Given the description of an element on the screen output the (x, y) to click on. 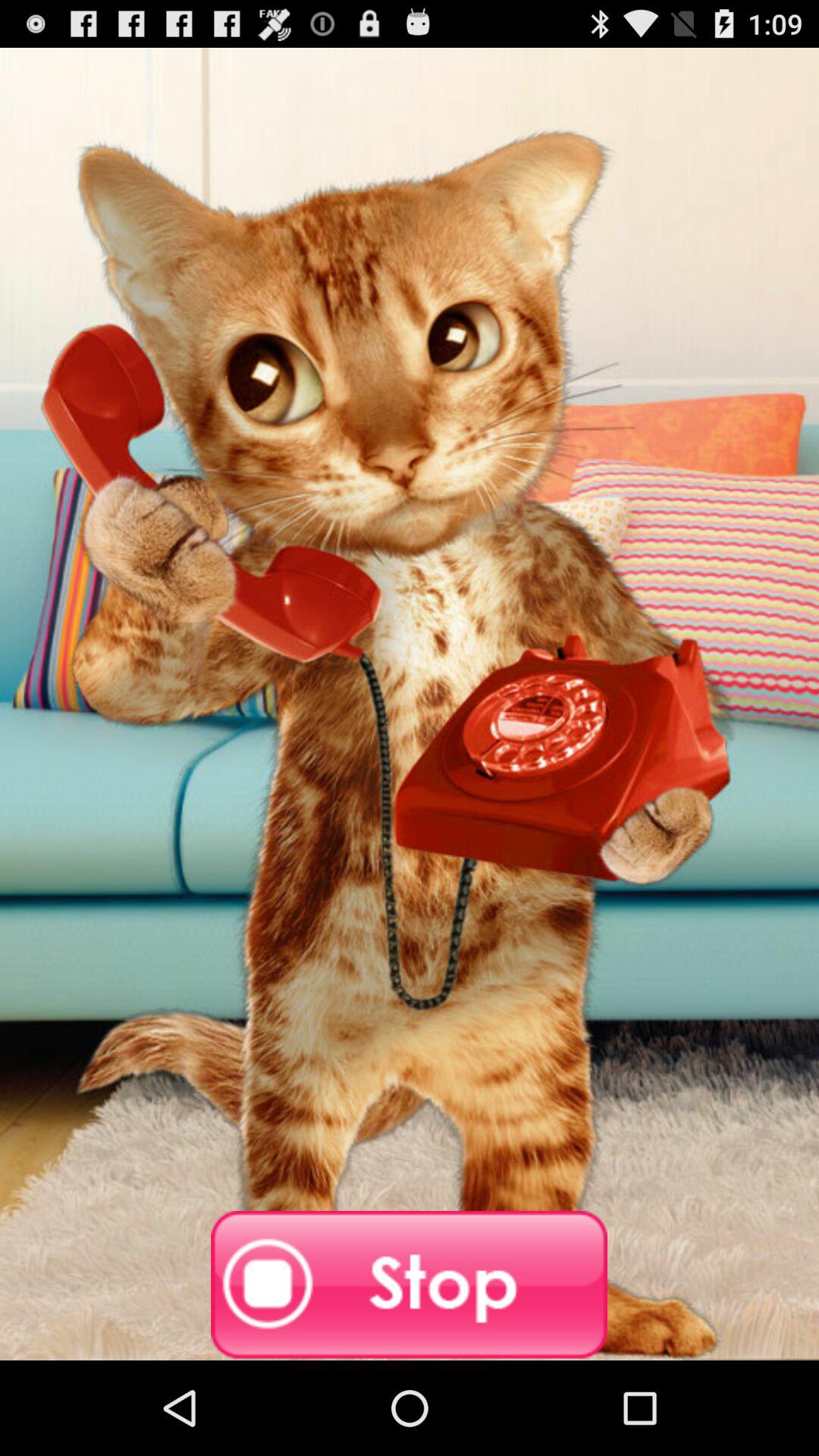
stop it (409, 1285)
